Given the description of an element on the screen output the (x, y) to click on. 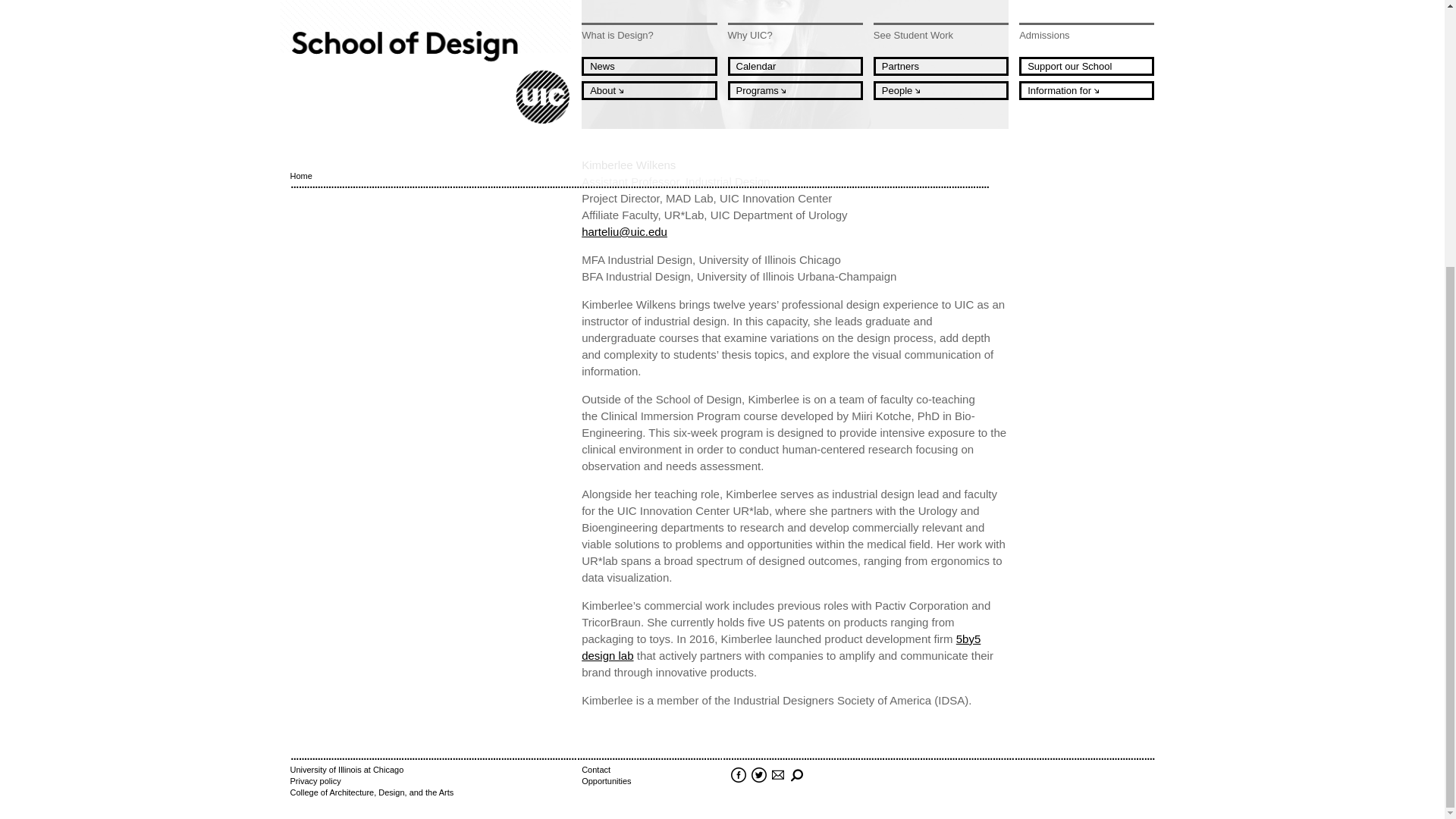
5by5 design lab (779, 646)
Twitter (757, 774)
Facebook (736, 774)
Mail (776, 774)
